Given the description of an element on the screen output the (x, y) to click on. 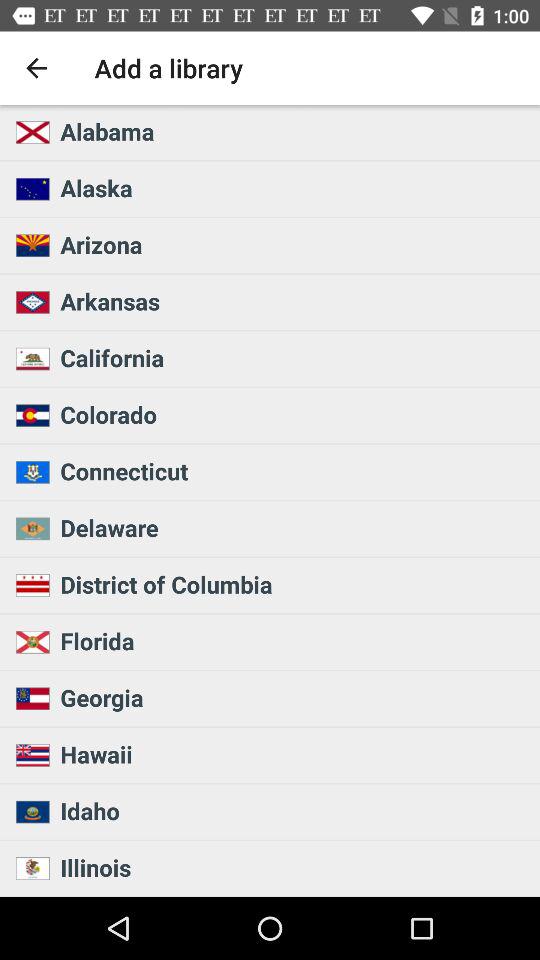
select the icon below the district of columbia (294, 640)
